Given the description of an element on the screen output the (x, y) to click on. 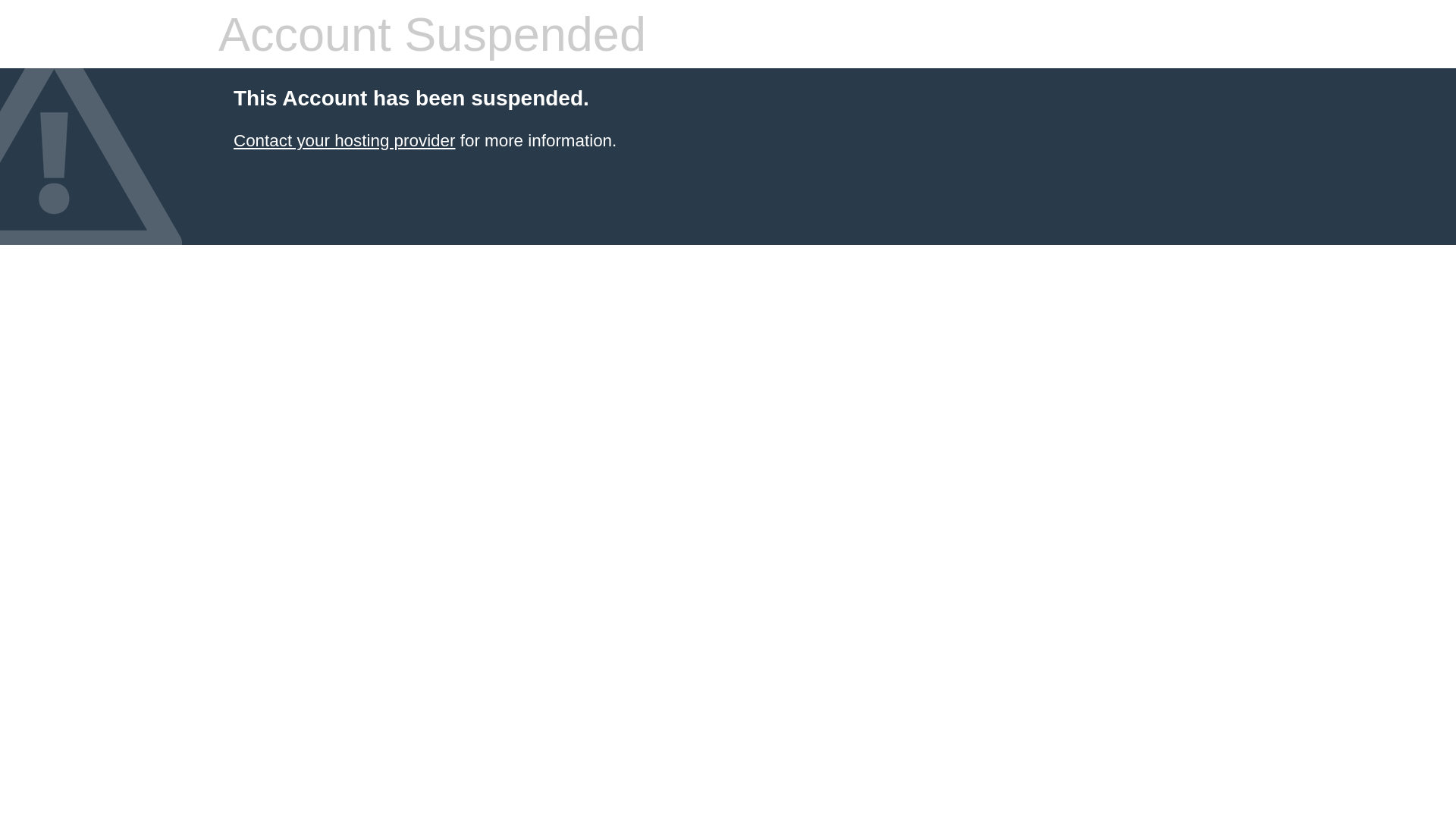
Contact your hosting provider Element type: text (344, 140)
